Given the description of an element on the screen output the (x, y) to click on. 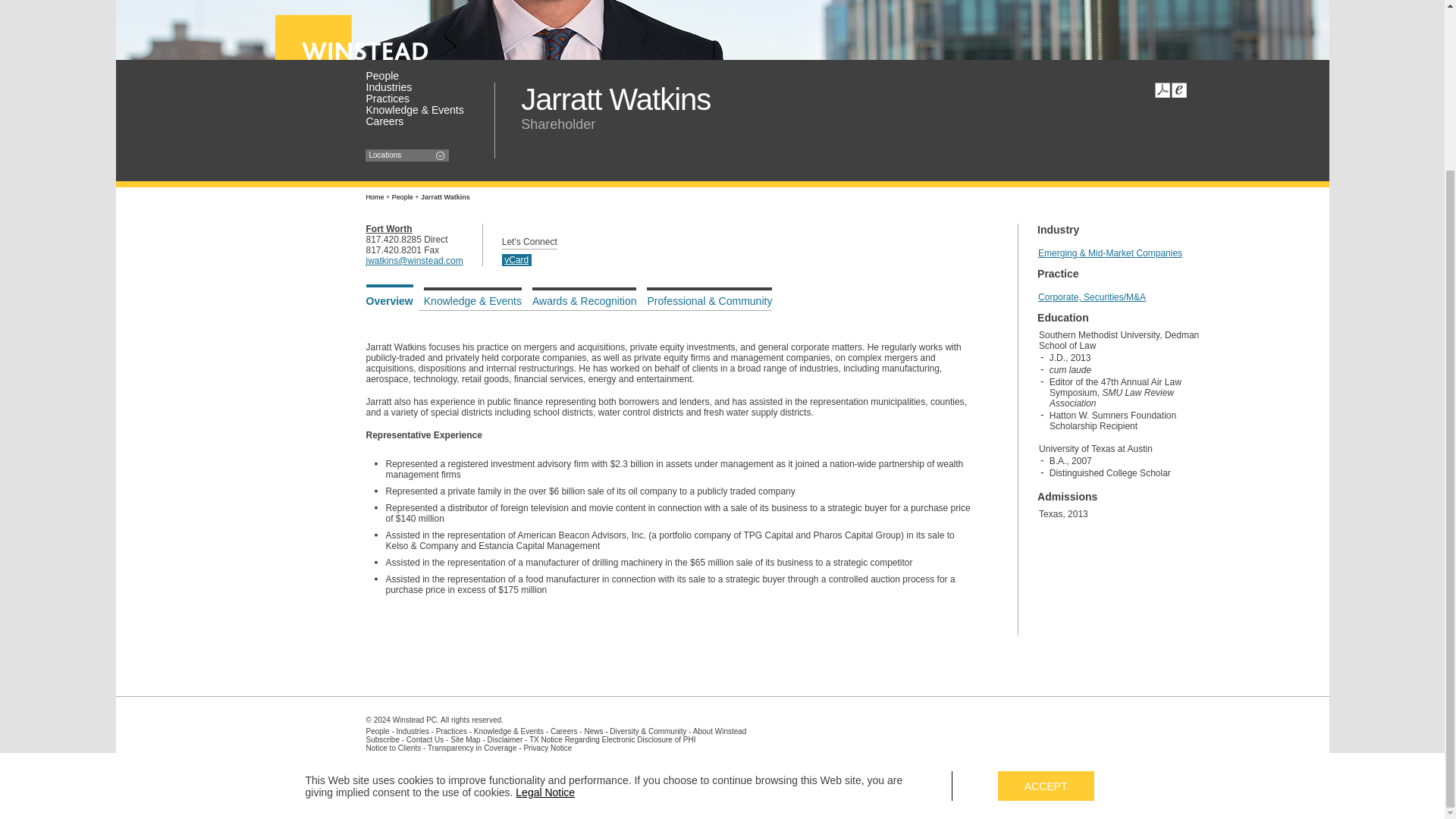
LinkedIn (569, 778)
Facebook (584, 778)
Twitter (553, 778)
Email Page (1179, 89)
People (418, 75)
Print to PDF (1162, 89)
Blog (599, 778)
